Given the description of an element on the screen output the (x, y) to click on. 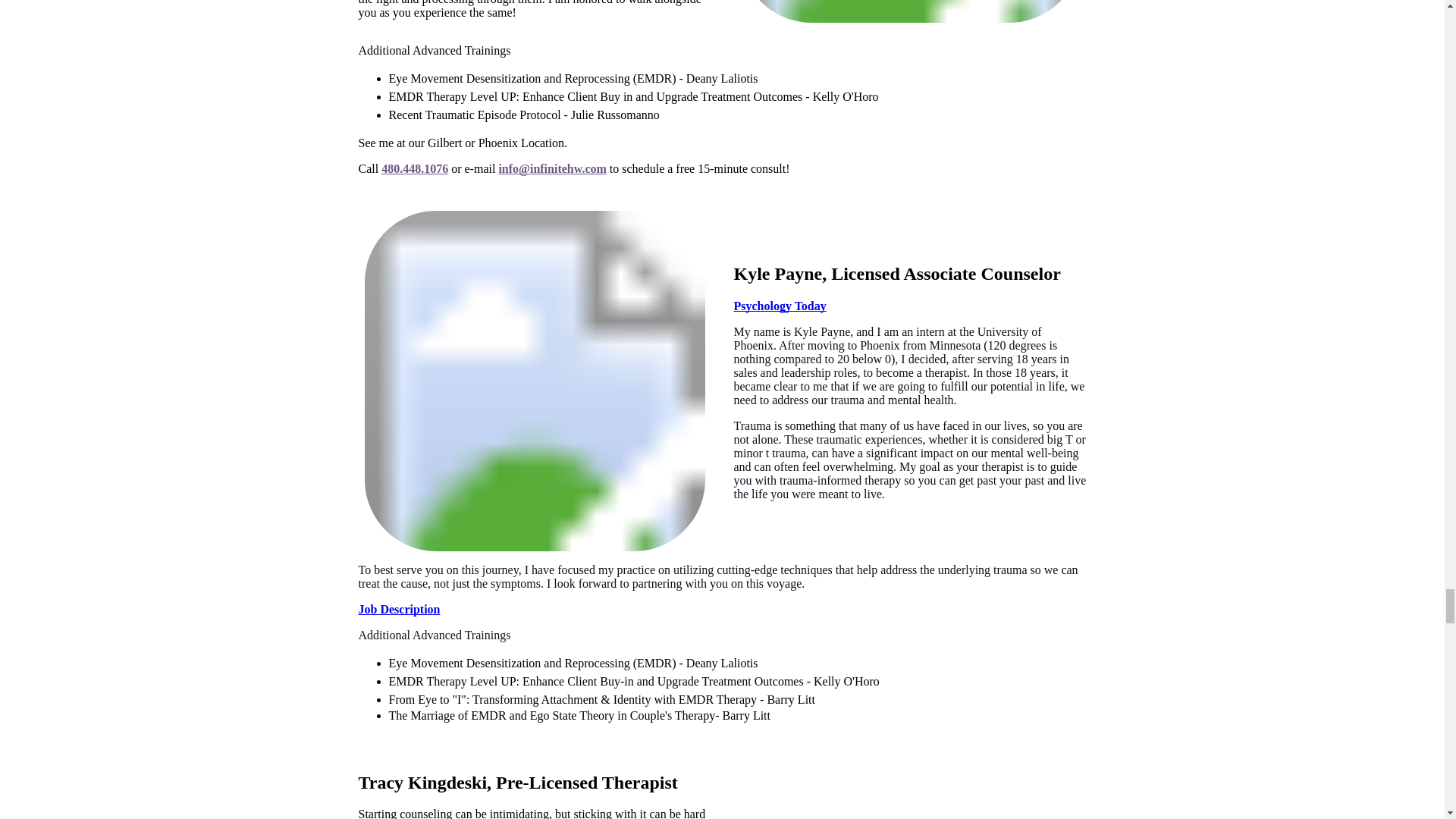
Kyle Payne - Phoenix, AZ - Infinite Healing and Wellness (534, 380)
Elle Harris - Phoenix, AZ - Infinite Healing and Wellness (909, 11)
